Given the description of an element on the screen output the (x, y) to click on. 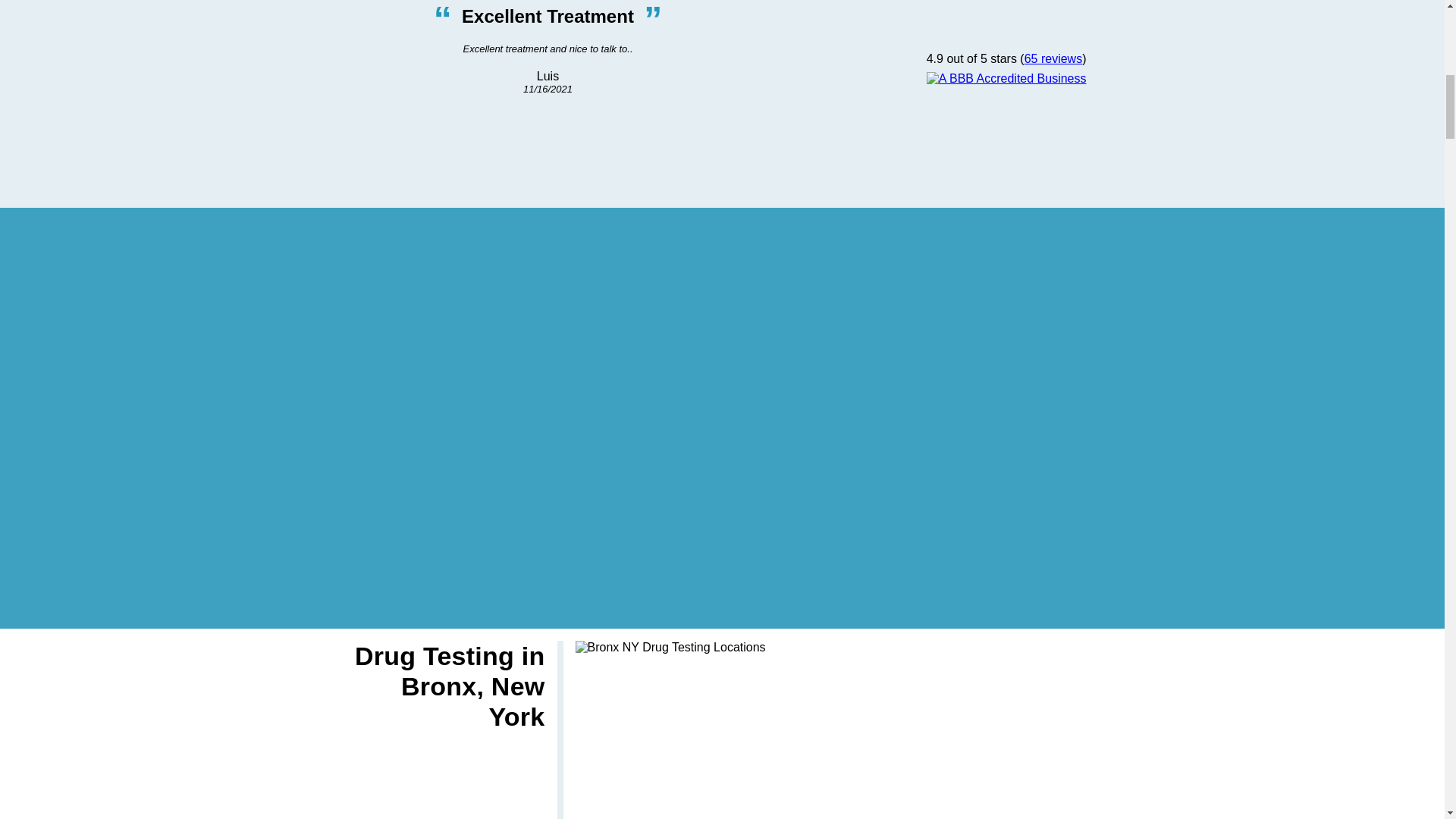
Bronx NY Drug Testing (670, 647)
